Given the description of an element on the screen output the (x, y) to click on. 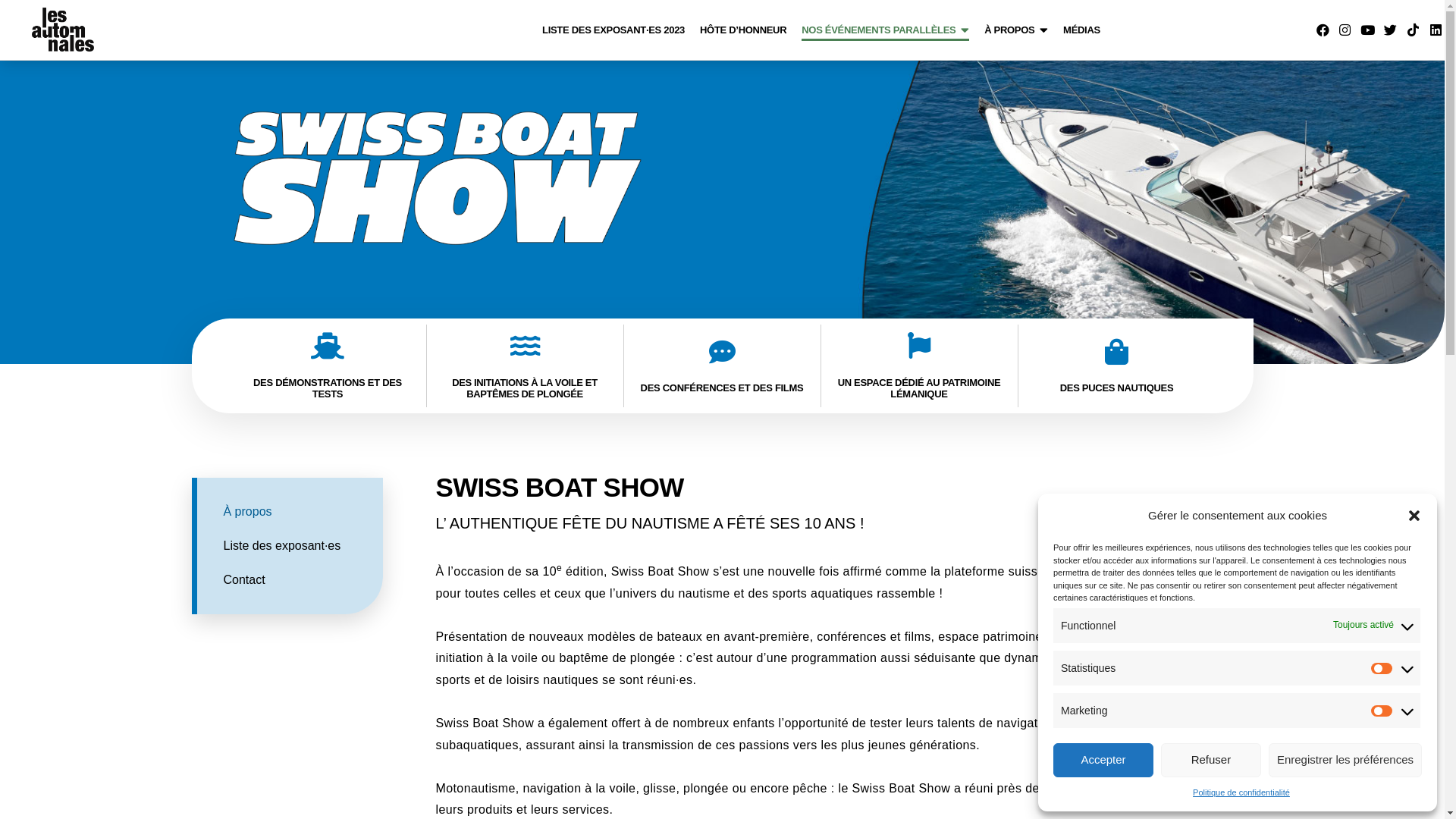
Contact Element type: text (302, 579)
Instagram Element type: text (1345, 30)
Twitter Element type: text (1390, 30)
Facebook Element type: text (1322, 30)
Youtube Element type: text (1367, 30)
Refuser Element type: text (1211, 760)
Tiktok Element type: text (1412, 30)
Accepter Element type: text (1103, 760)
Linkedin Element type: text (1435, 30)
